Given the description of an element on the screen output the (x, y) to click on. 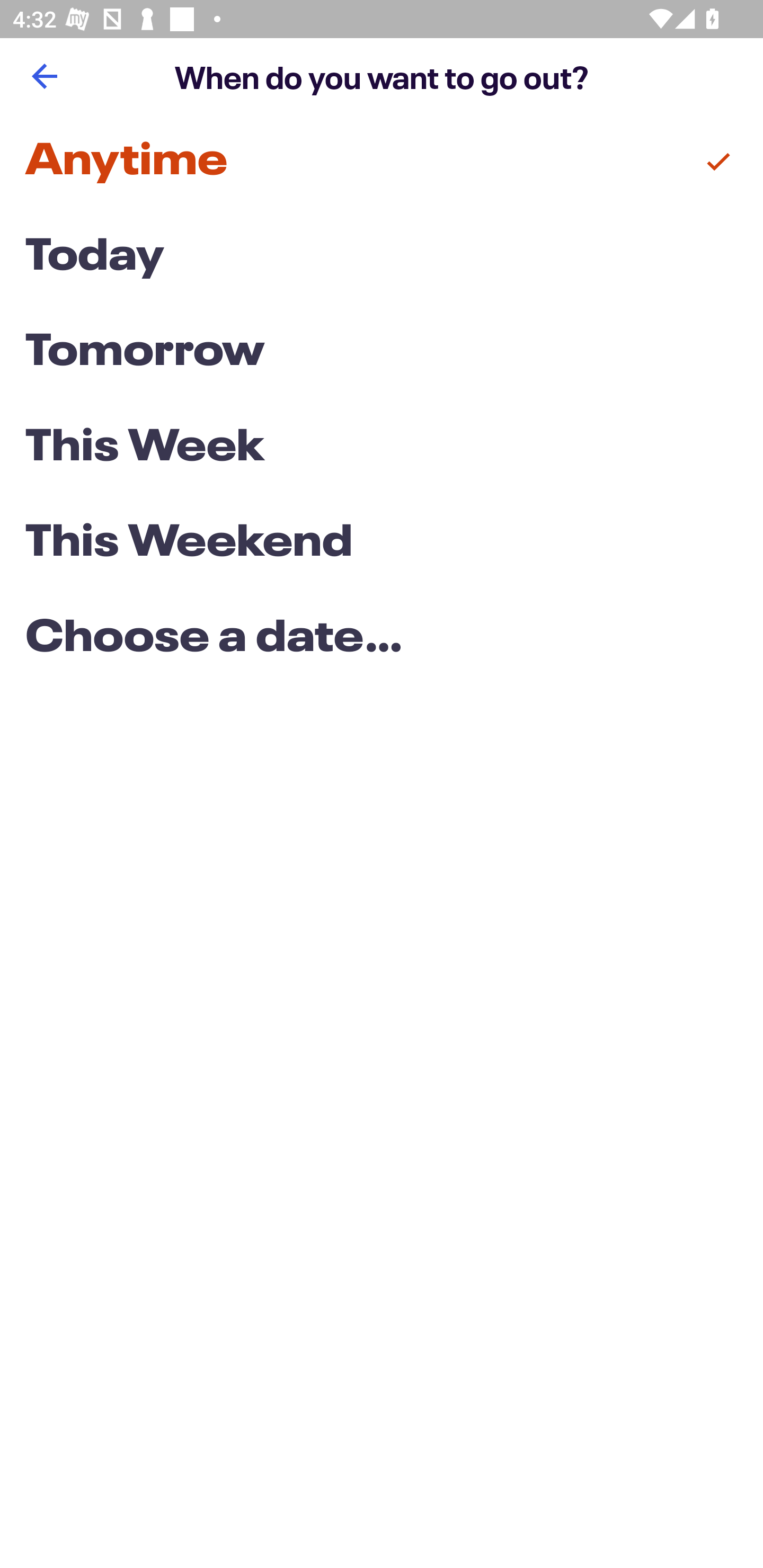
Back button (44, 75)
Anytime (381, 161)
Today (381, 257)
Tomorrow (381, 352)
This Week (381, 447)
This Weekend (381, 542)
Choose a date… (381, 638)
